Given the description of an element on the screen output the (x, y) to click on. 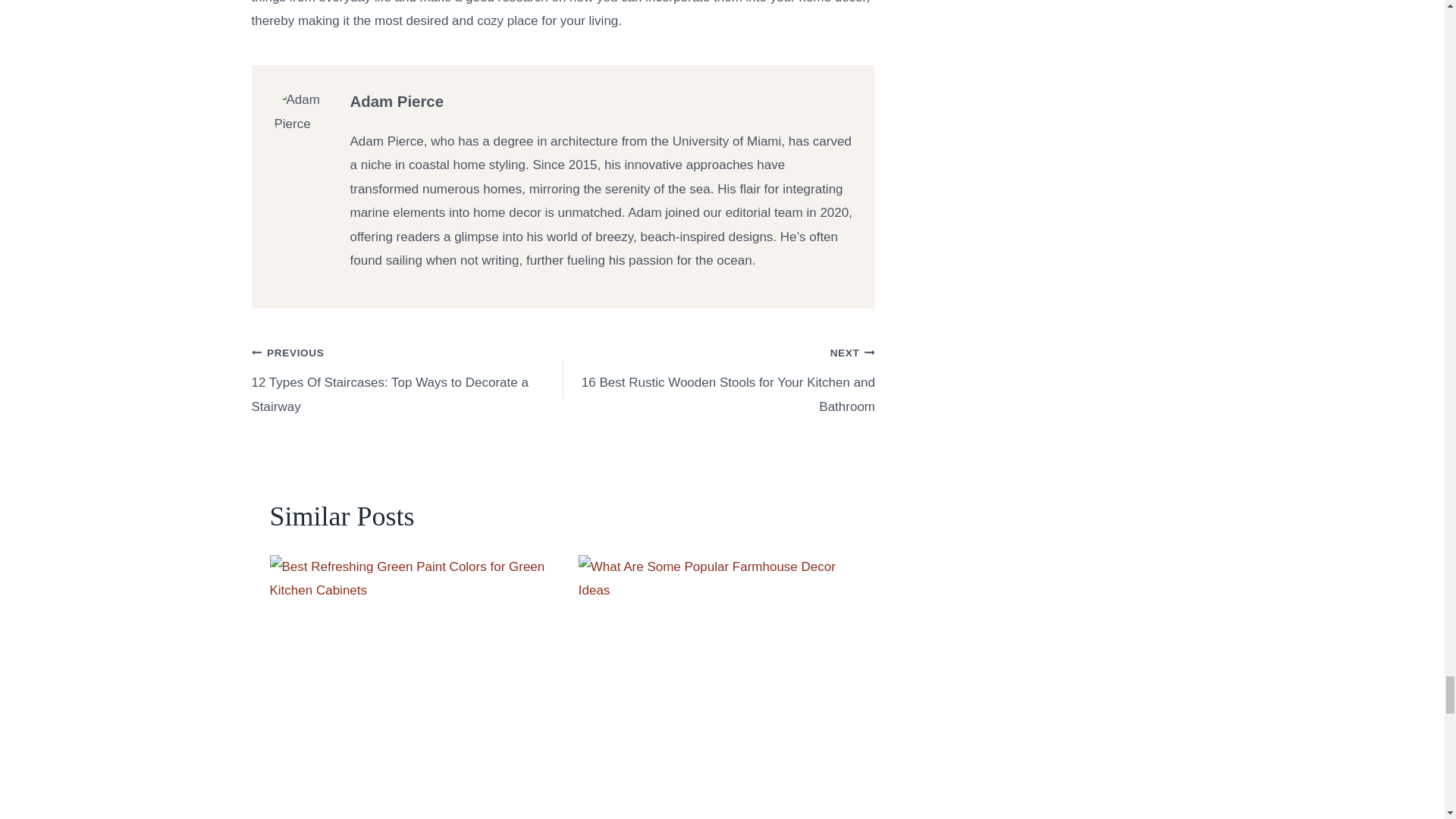
Posts by Adam Pierce (397, 101)
